Given the description of an element on the screen output the (x, y) to click on. 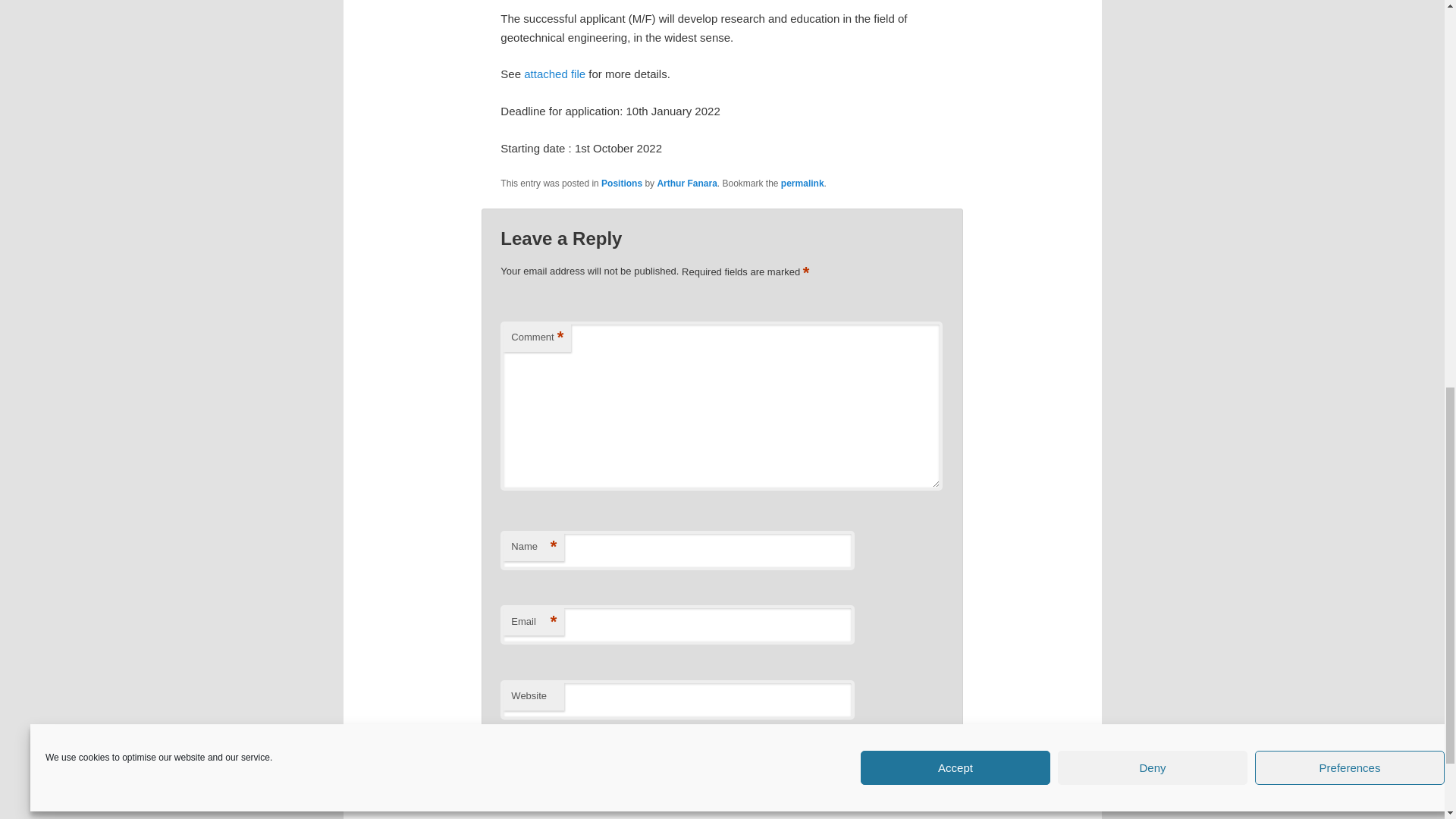
Post Comment (904, 795)
Accept (954, 358)
subscribe (508, 735)
subscribe (508, 762)
Deny (1152, 358)
